Given the description of an element on the screen output the (x, y) to click on. 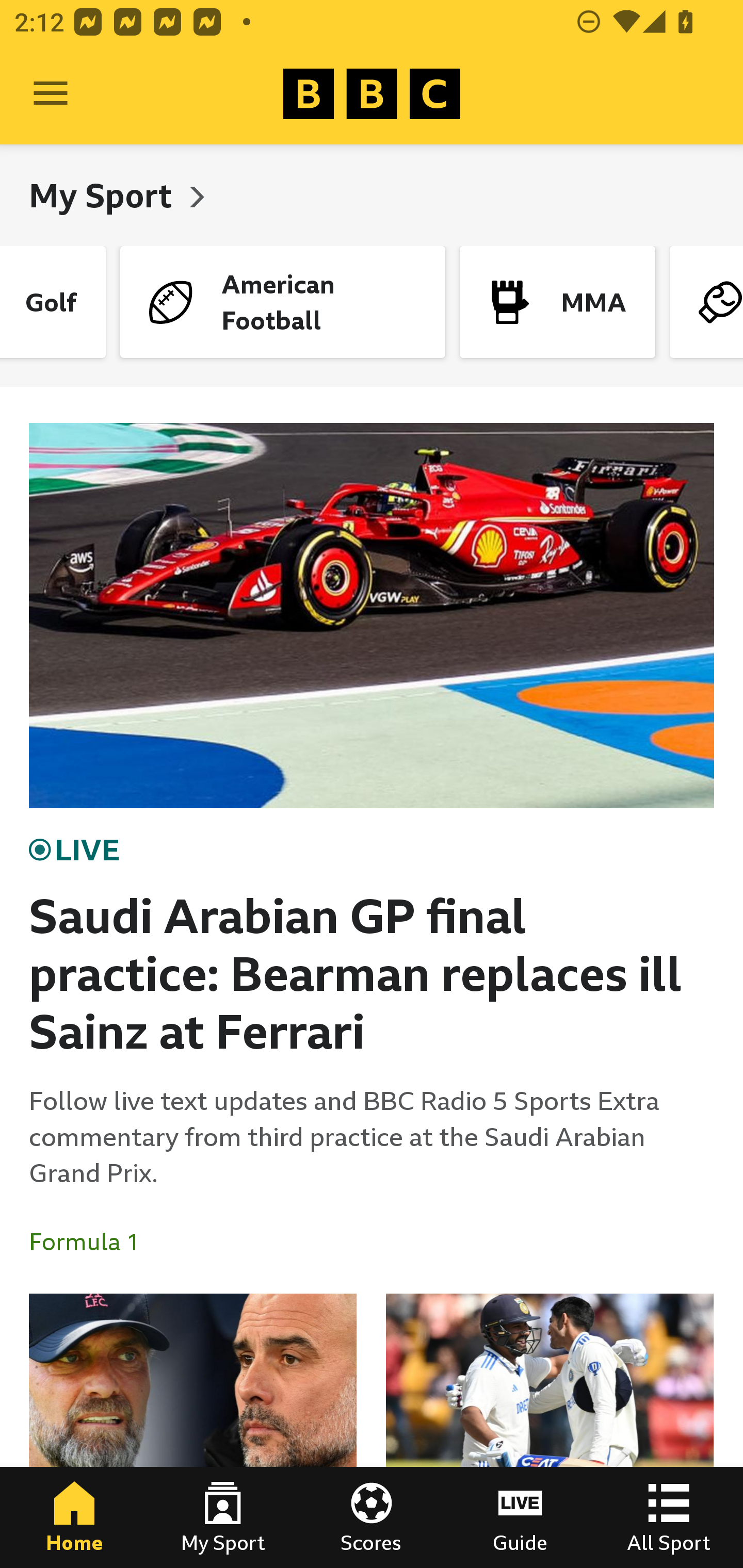
Open Menu (50, 93)
My Sport (104, 195)
Formula 1 In the section Formula 1 (91, 1241)
India build big lead despite Stokes' return wicket (549, 1430)
My Sport (222, 1517)
Scores (371, 1517)
Guide (519, 1517)
All Sport (668, 1517)
